Given the description of an element on the screen output the (x, y) to click on. 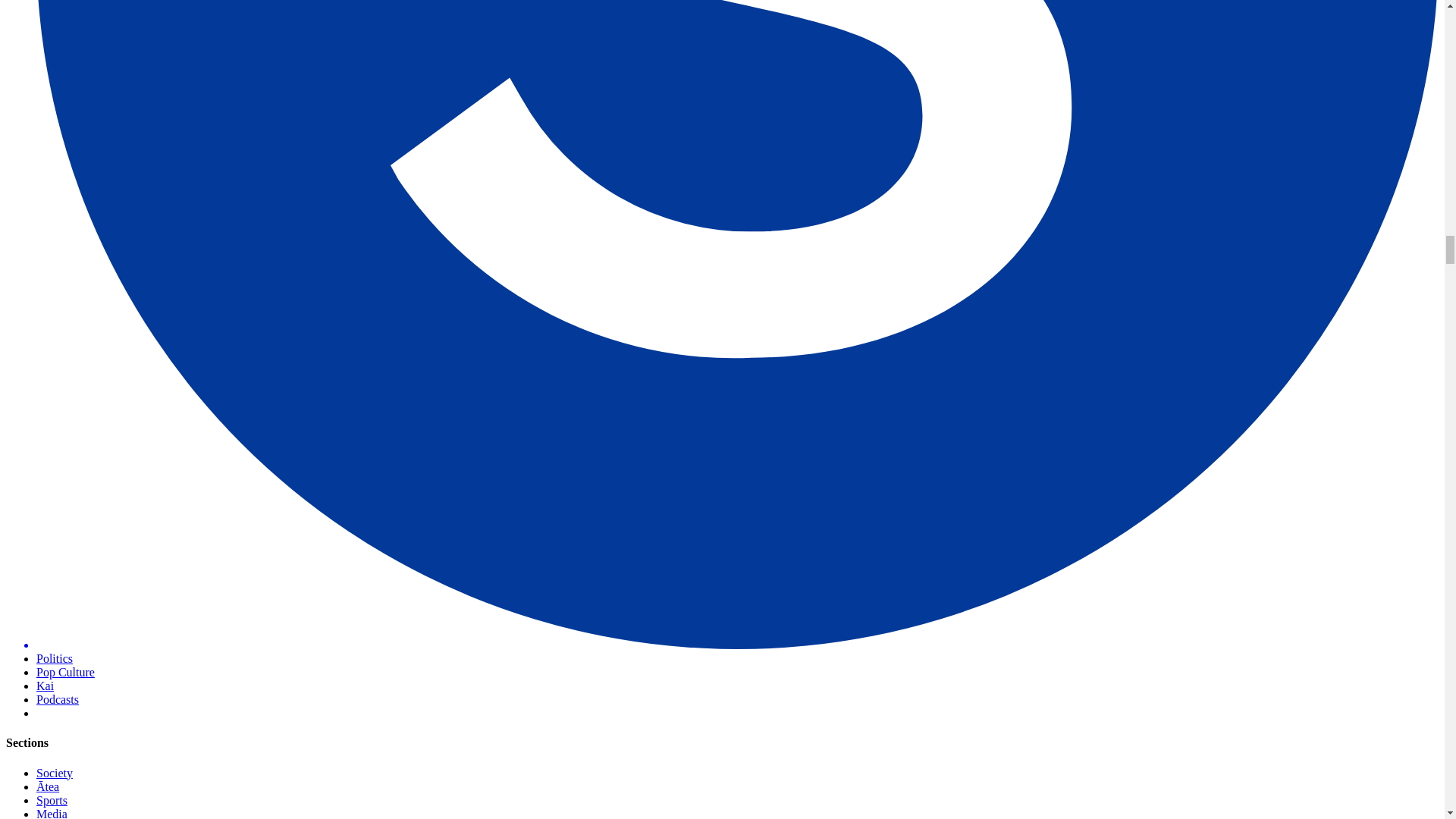
Podcasts (57, 698)
Society (54, 772)
Pop Culture (65, 671)
Media (51, 813)
Sports (51, 799)
Kai (44, 685)
Politics (54, 658)
